Given the description of an element on the screen output the (x, y) to click on. 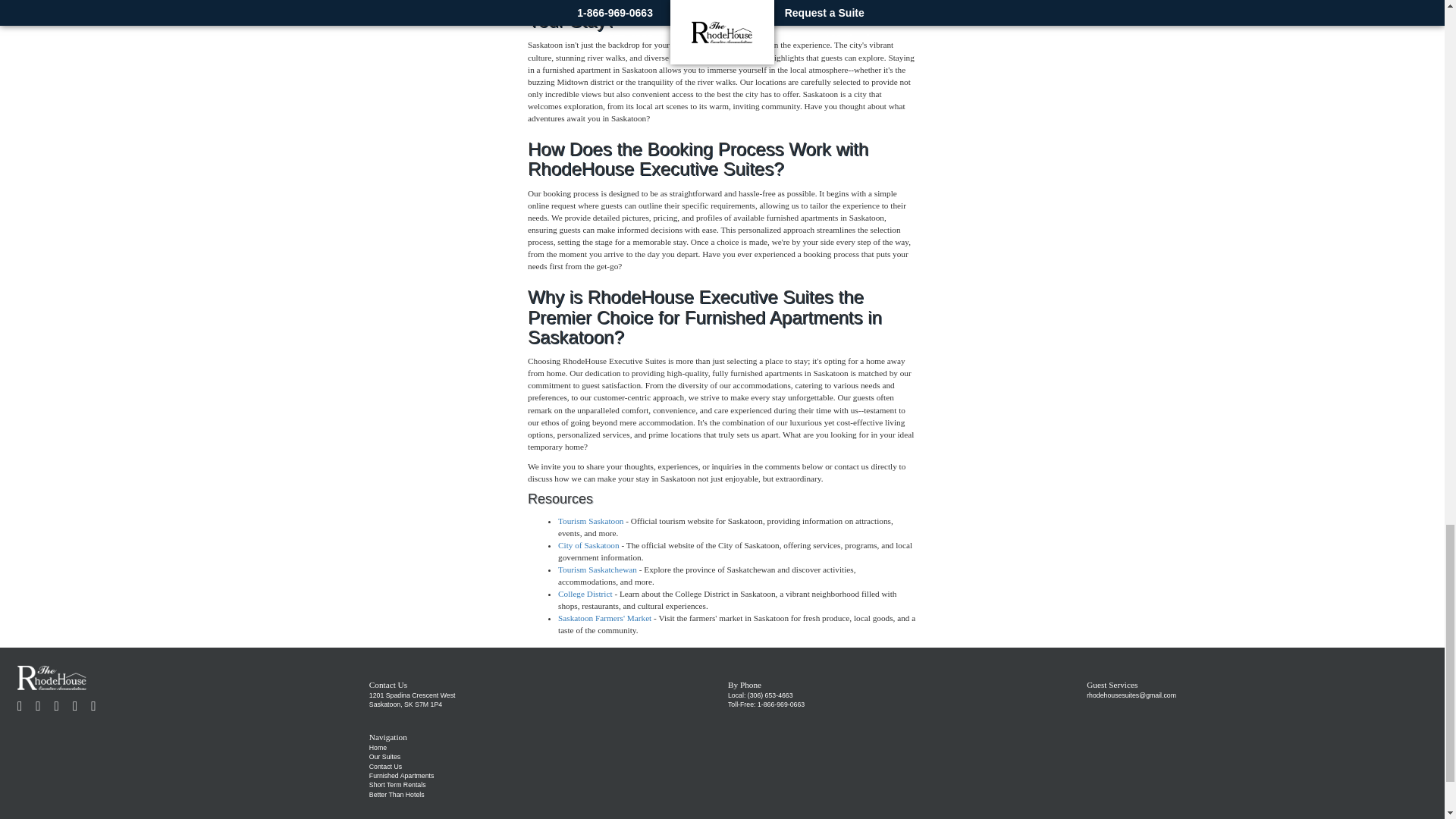
College District (584, 593)
Contact Us (385, 766)
Home (378, 747)
Our Suites (384, 756)
Saskatoon Farmers' Market (603, 617)
Tourism Saskatoon (590, 520)
RhodeHouse Executive Suites (52, 676)
Furnished Apartments (401, 775)
City of Saskatoon (588, 544)
Tourism Saskatchewan (597, 569)
